Given the description of an element on the screen output the (x, y) to click on. 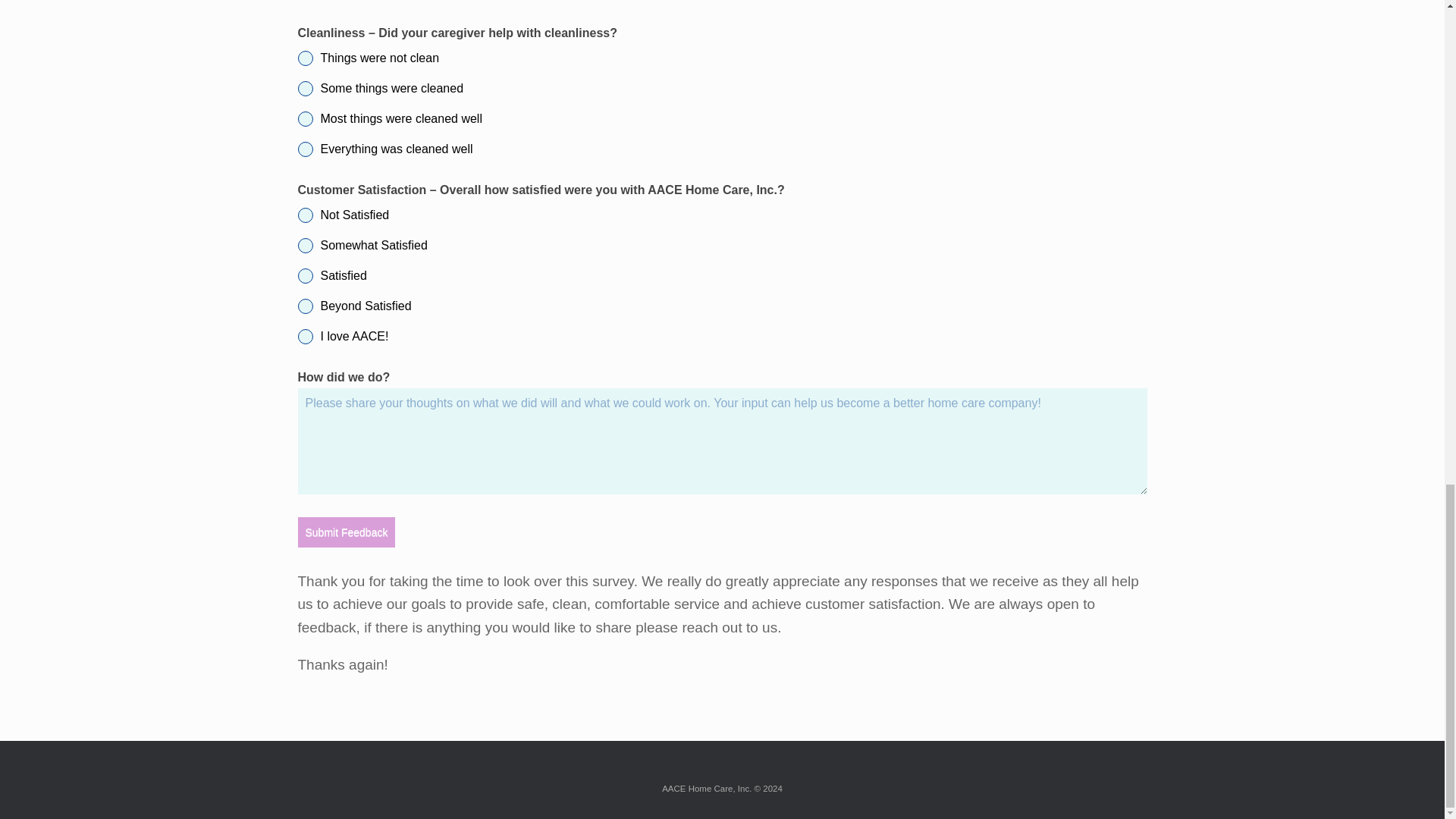
Everything was cleaned well (722, 149)
Submit Feedback (345, 531)
Some things were cleaned (722, 88)
Things were not clean (722, 58)
Not Satisfied (722, 215)
Most things were cleaned well (722, 118)
